Given the description of an element on the screen output the (x, y) to click on. 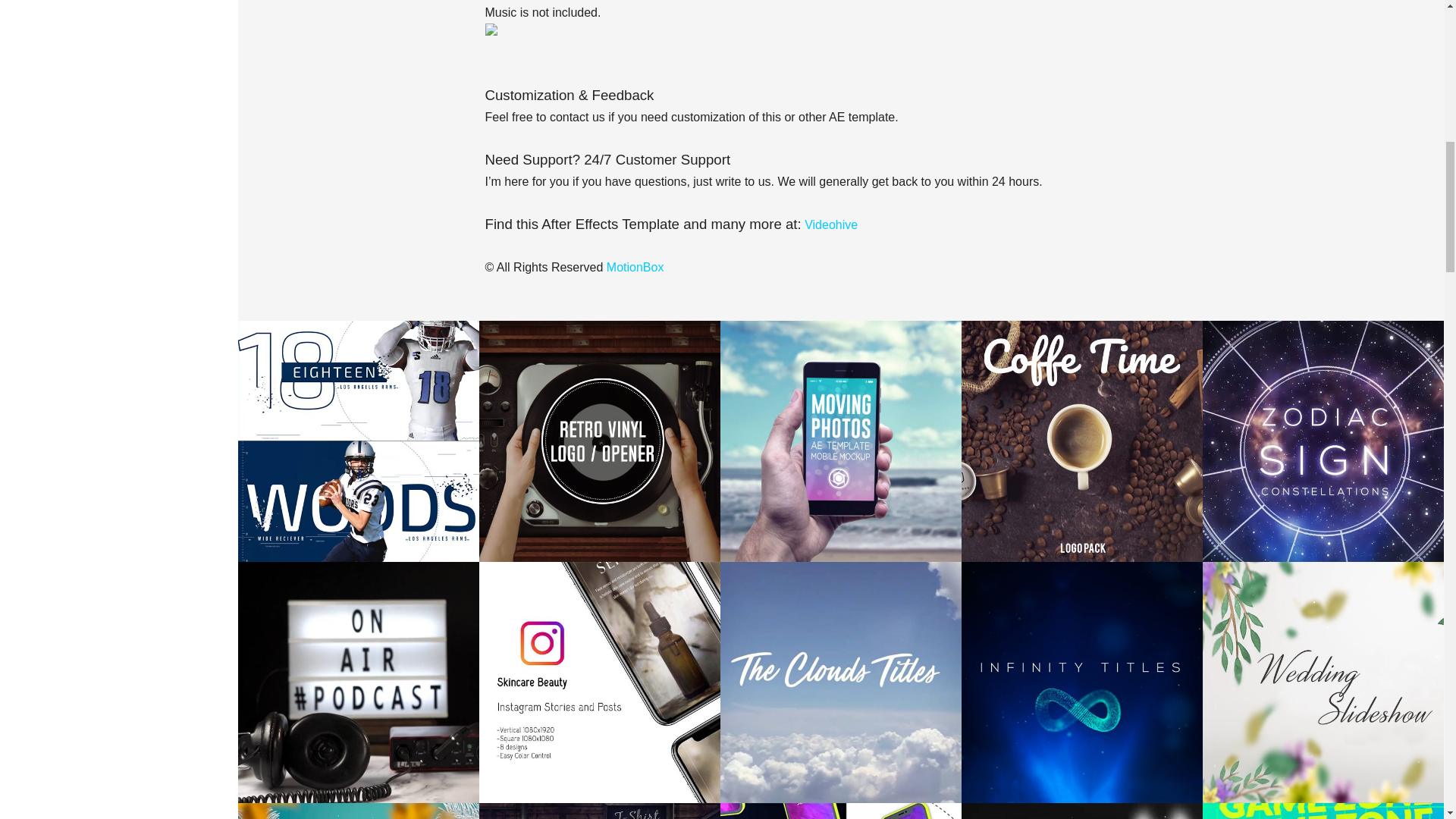
MotionBox (635, 267)
Videohive (831, 224)
